Given the description of an element on the screen output the (x, y) to click on. 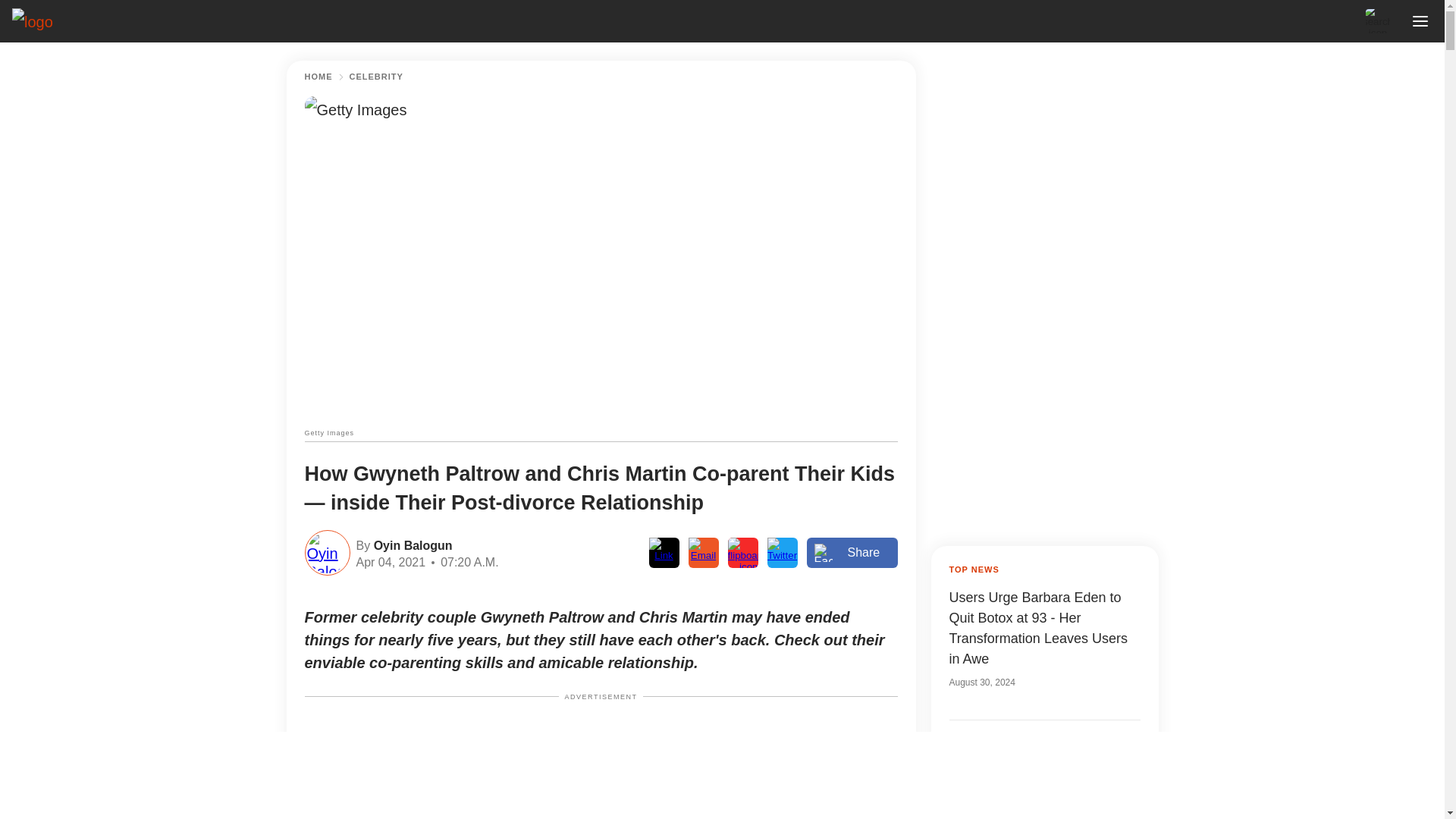
Oyin Balogun (410, 544)
HOME (318, 76)
CELEBRITY (376, 76)
